Given the description of an element on the screen output the (x, y) to click on. 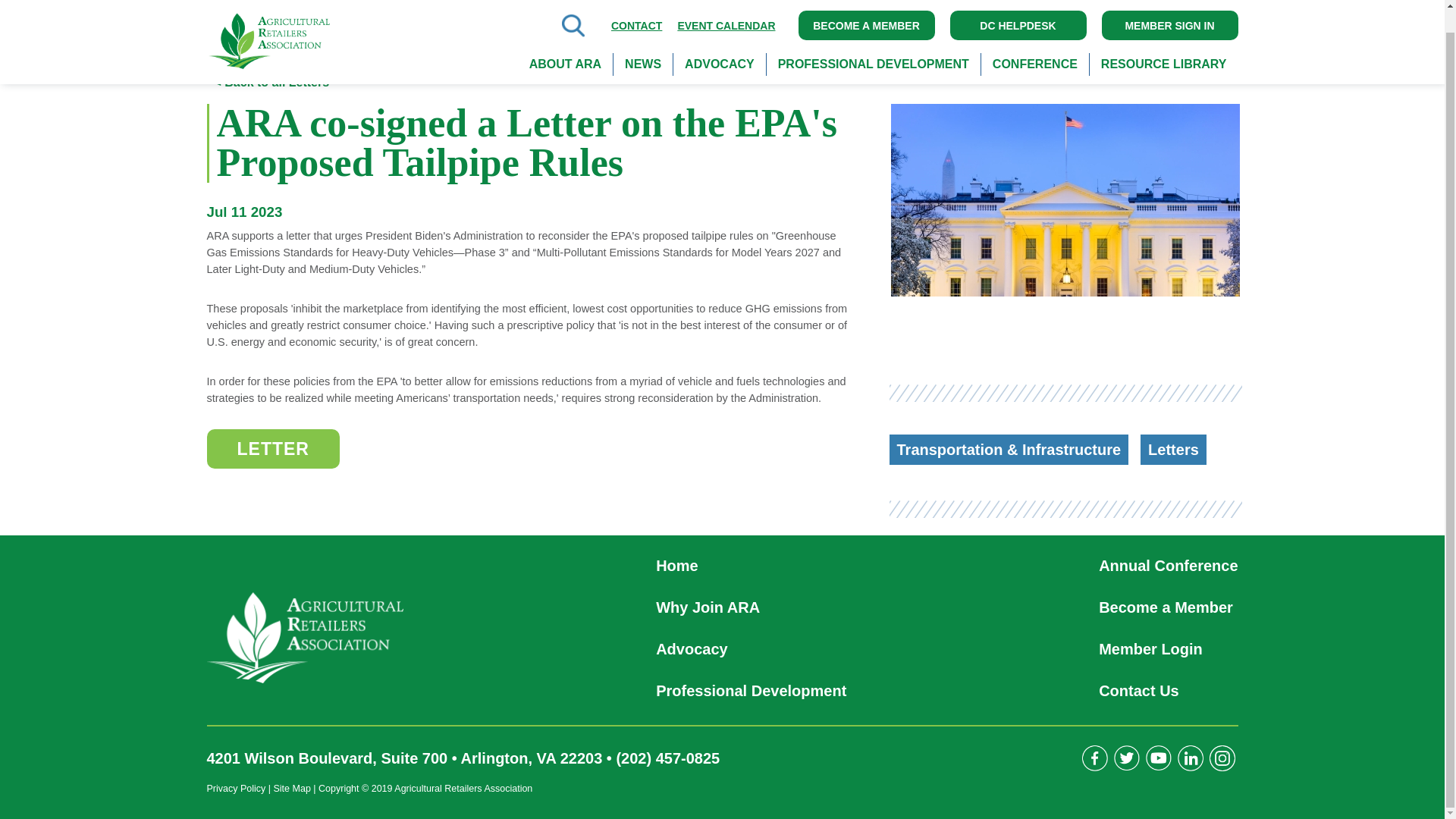
DC HELPDESK (1017, 16)
MEMBER SIGN IN (1168, 16)
BECOME A MEMBER (865, 16)
EVENT CALENDAR (726, 15)
CONTACT (636, 15)
